Given the description of an element on the screen output the (x, y) to click on. 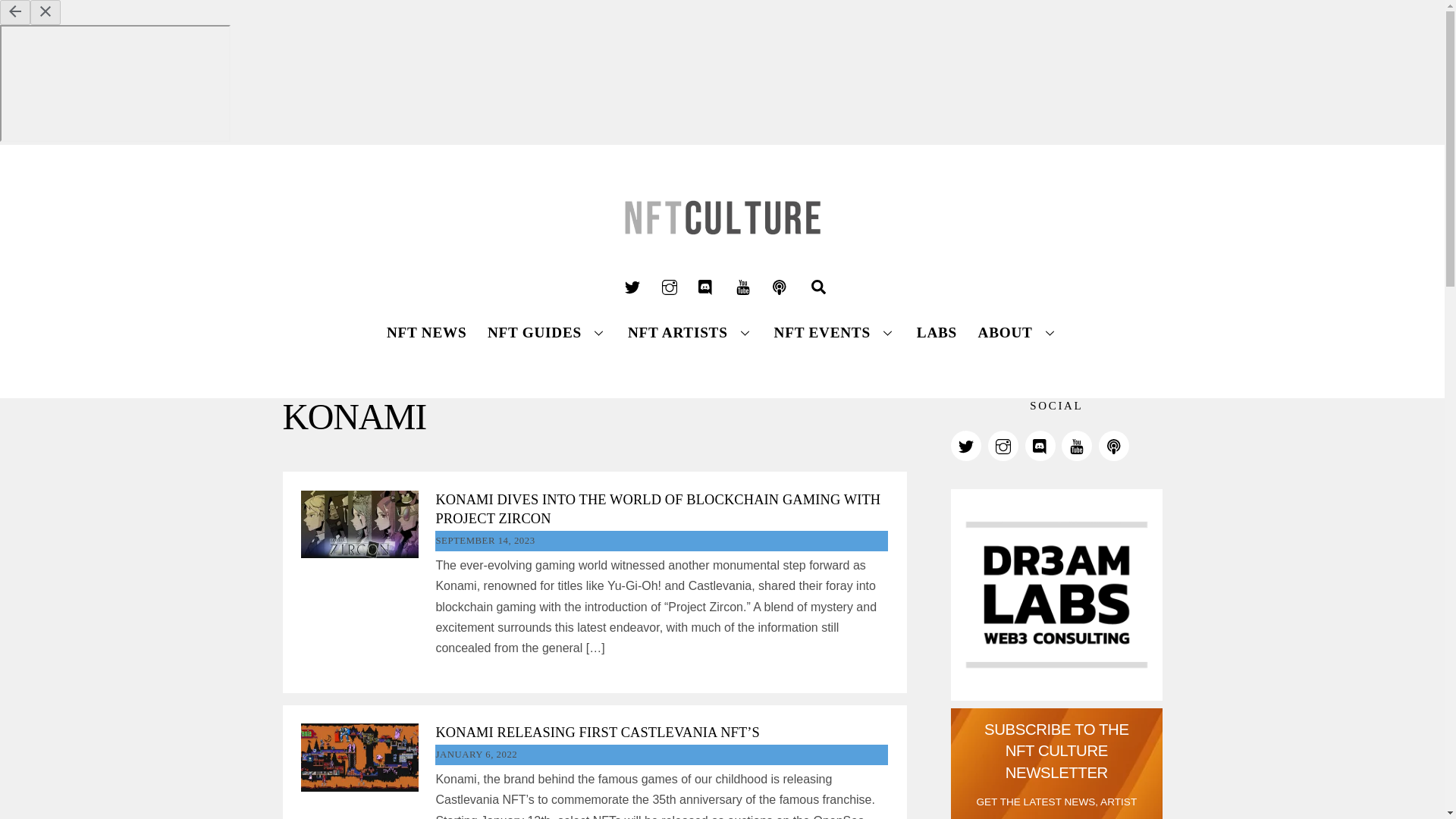
NFT NEWS (426, 331)
LABS (936, 331)
Search (817, 286)
Project Zircon NFT Project (360, 523)
NFT CULTURE (722, 248)
castlevania NFTs (360, 757)
NFT ARTISTS (689, 331)
DR3AM LABS Web3 Consulting (1055, 594)
NFT EVENTS (834, 331)
NFT GUIDES (547, 331)
ABOUT (1018, 331)
